Given the description of an element on the screen output the (x, y) to click on. 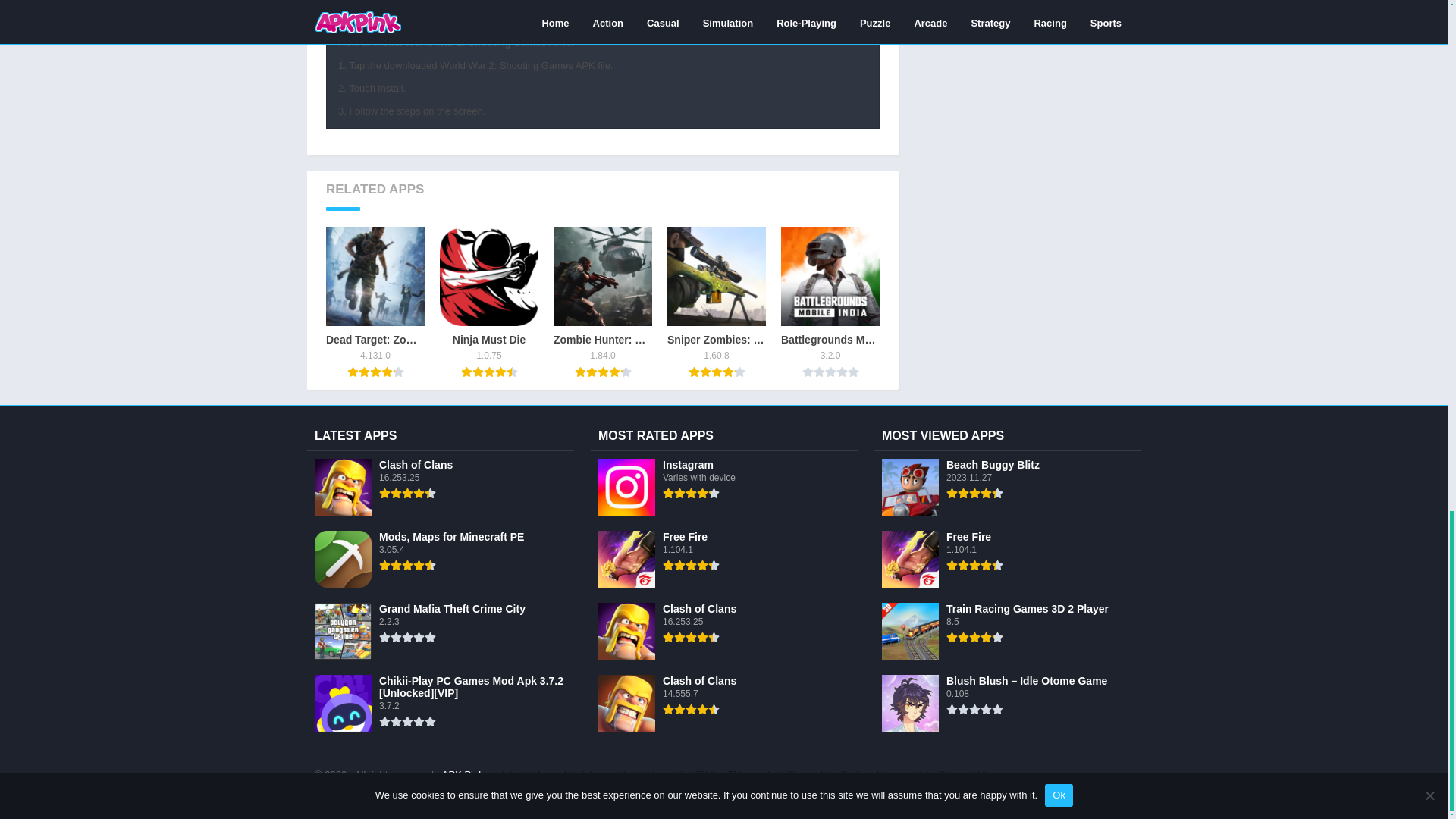
Dead Target: Zombie Games 3D (375, 302)
Dead Target: Zombie Games 3D 3 (375, 302)
Zombie Hunter: Offline Games (375, 276)
Ninja Must Die 4 (602, 302)
Sniper Zombies: Offline Games 6 (602, 302)
Sniper Zombies: Offline Games (488, 276)
Zombie Hunter: Offline Games 5 (715, 302)
Ninja Must Die (715, 276)
Battlegrounds Mobile India 7 (715, 302)
Battlegrounds Mobile India (602, 276)
